Given the description of an element on the screen output the (x, y) to click on. 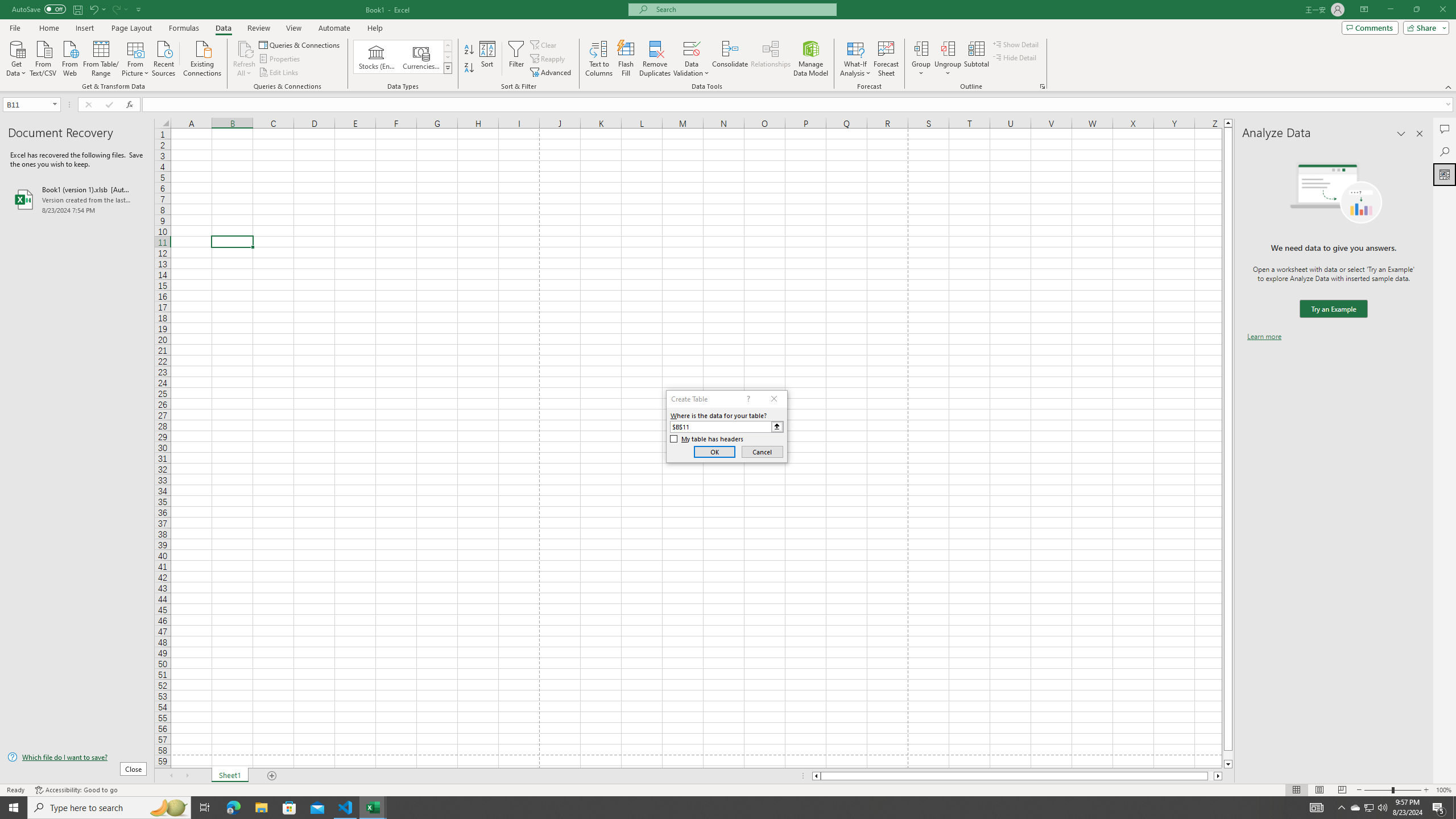
Consolidate... (729, 58)
